Given the description of an element on the screen output the (x, y) to click on. 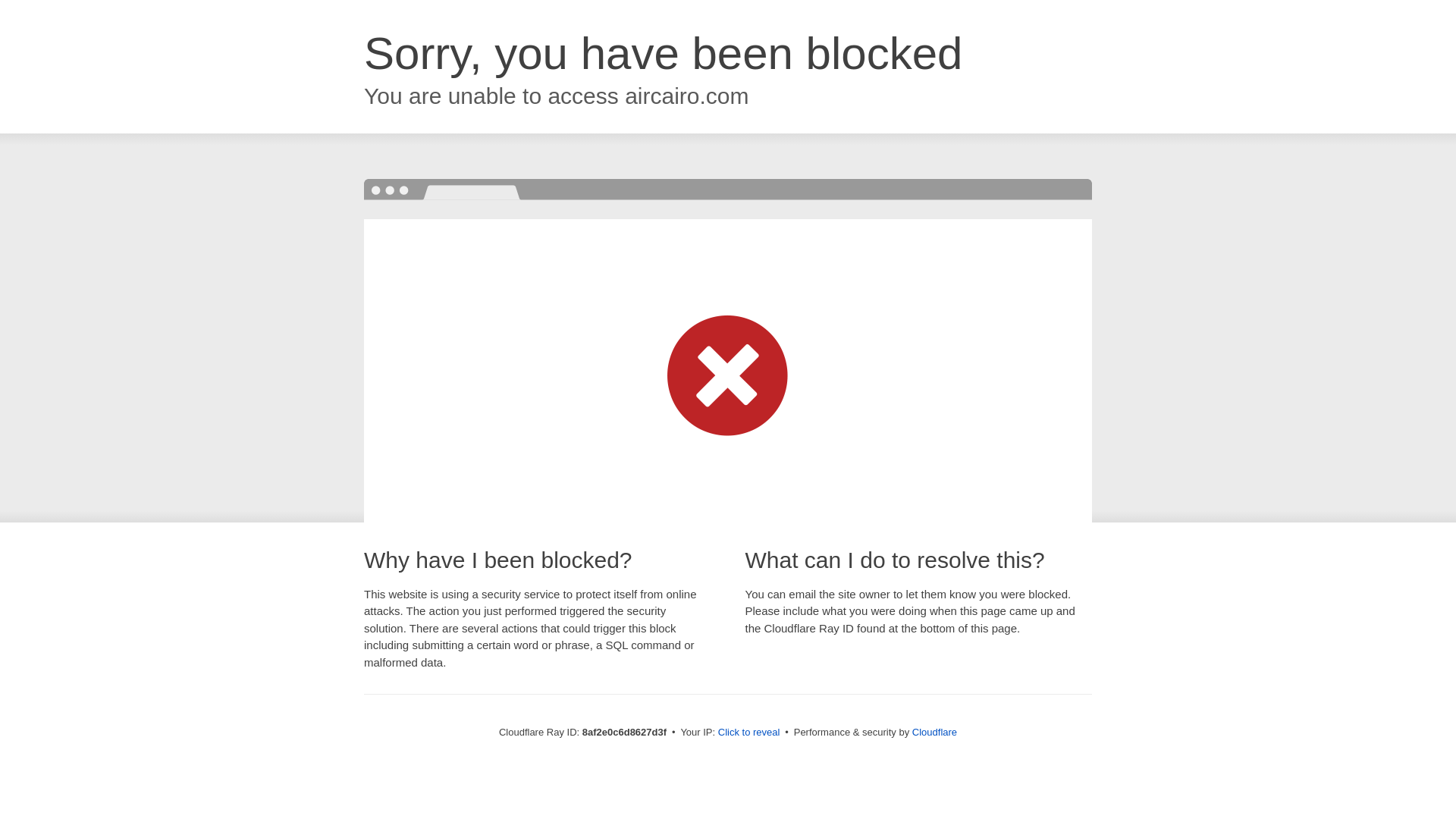
Click to reveal (748, 732)
Cloudflare (934, 731)
